Given the description of an element on the screen output the (x, y) to click on. 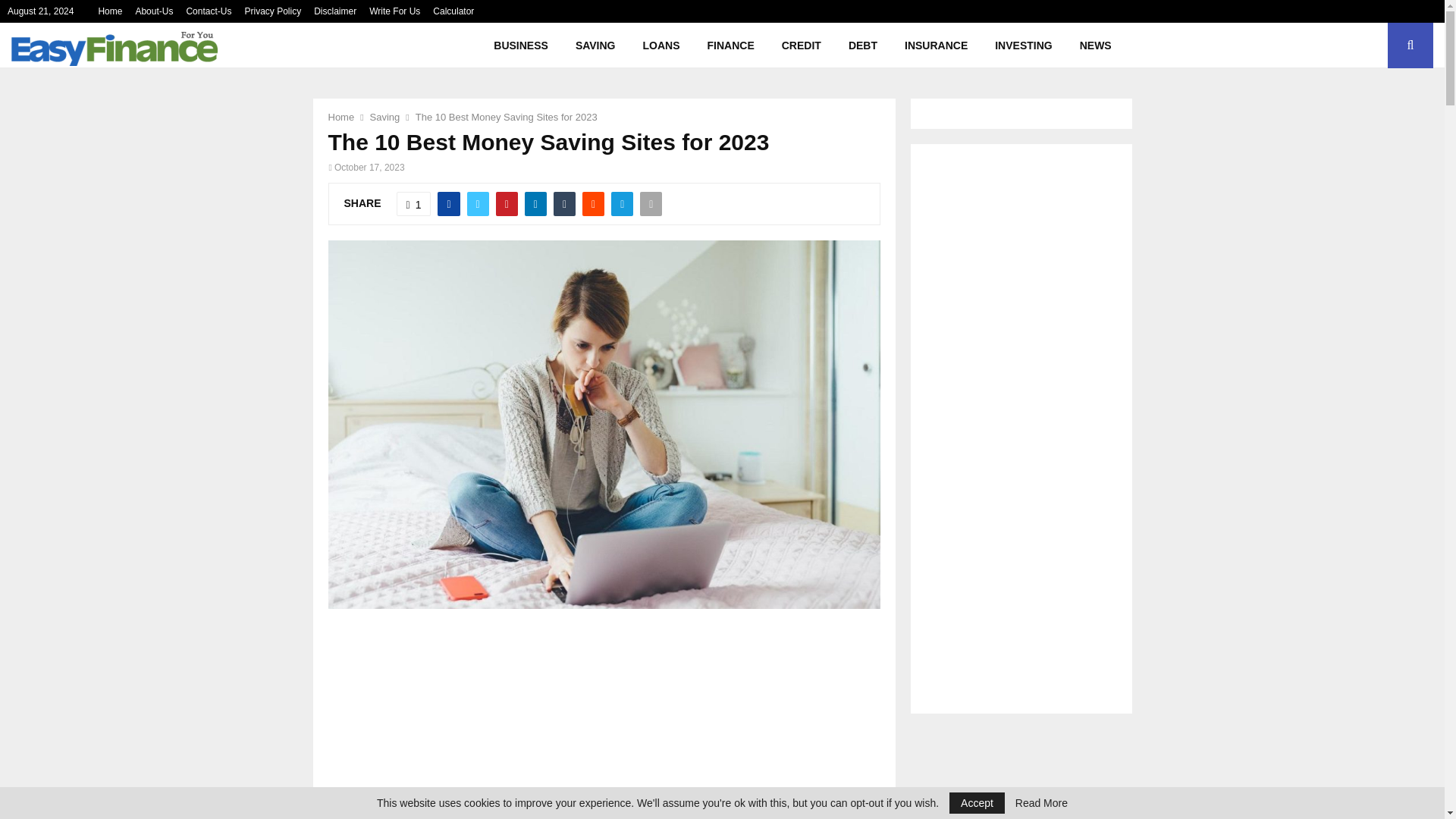
About-Us (154, 11)
Contact-Us (208, 11)
SAVING (595, 44)
Like (413, 203)
CREDIT (801, 44)
The 10 Best Money Saving Sites for 2023 (505, 116)
Advertisement (611, 724)
BUSINESS (521, 44)
Saving (384, 116)
NEWS (1095, 44)
